Given the description of an element on the screen output the (x, y) to click on. 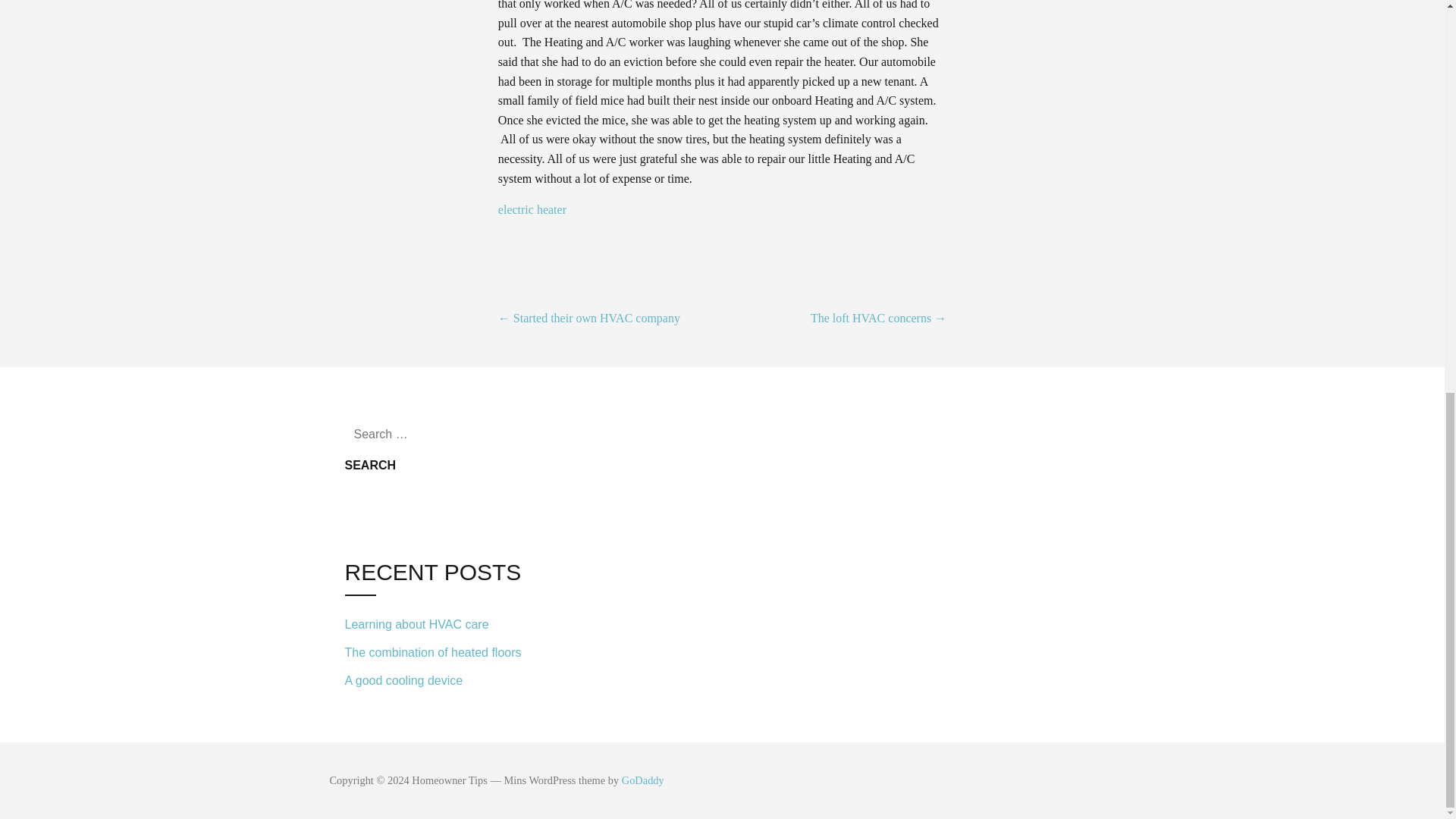
Search (369, 465)
The combination of heated floors (447, 653)
Learning about HVAC care (447, 624)
Search (369, 465)
Search (369, 465)
electric heater (531, 209)
GoDaddy (642, 779)
A good cooling device (447, 678)
